Given the description of an element on the screen output the (x, y) to click on. 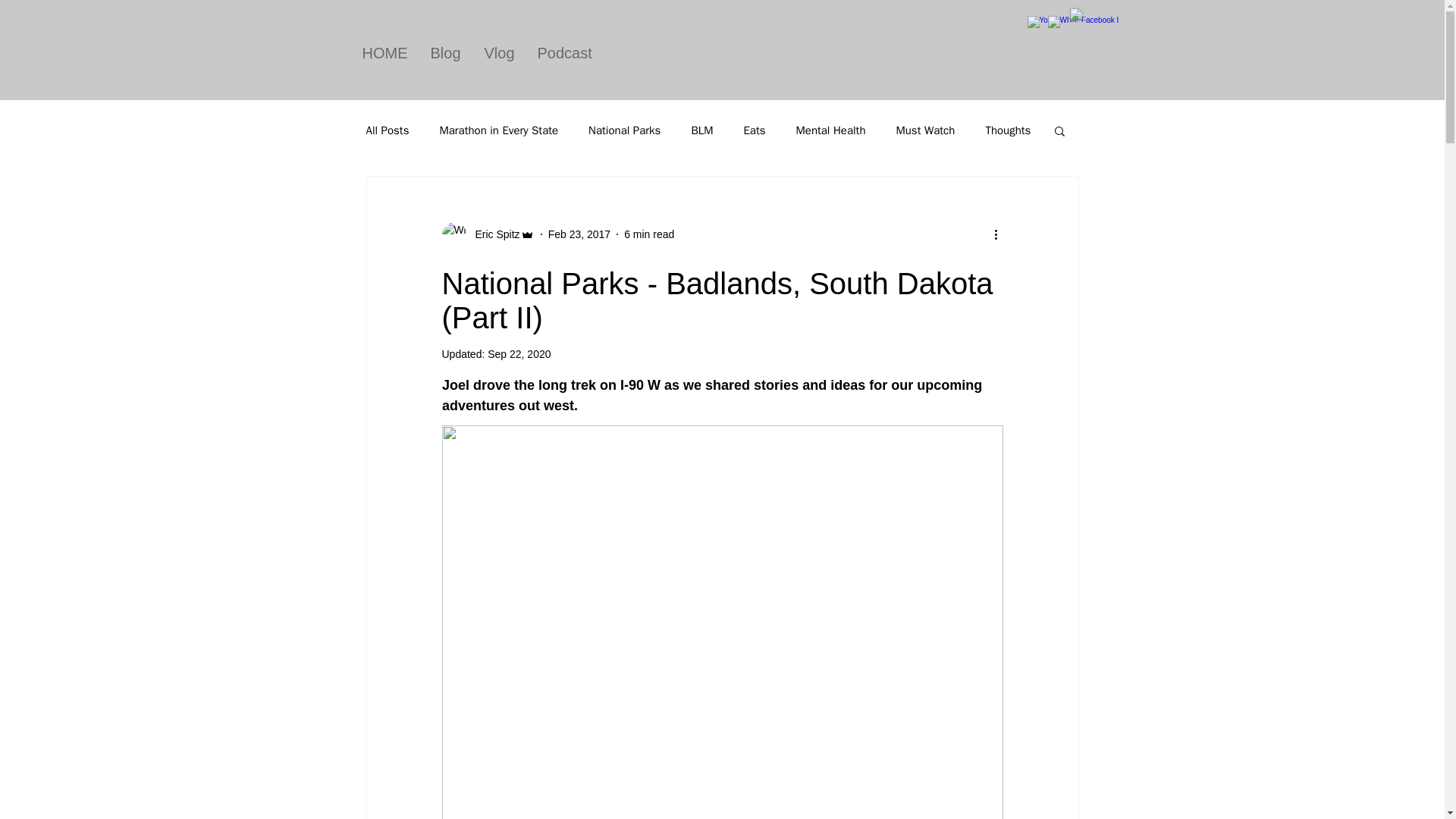
6 min read (649, 233)
Thoughts (1007, 129)
Sep 22, 2020 (518, 354)
Eric Spitz (492, 233)
National Parks (624, 129)
Mental Health (831, 129)
Marathon in Every State (498, 129)
All Posts (387, 129)
Feb 23, 2017 (579, 233)
BLM (701, 129)
